Given the description of an element on the screen output the (x, y) to click on. 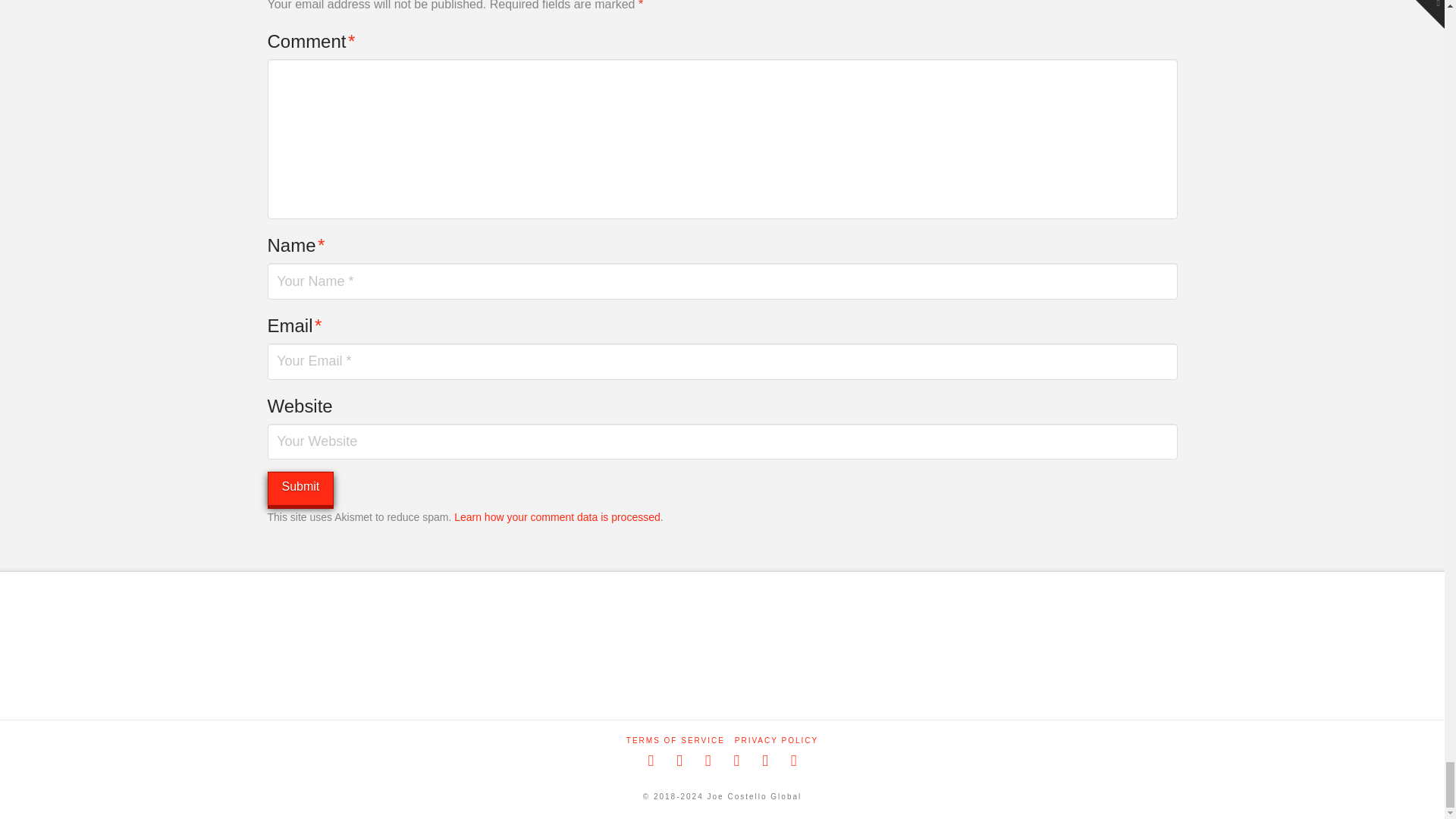
Submit (299, 488)
Learn how your comment data is processed (557, 517)
Submit (299, 488)
